Given the description of an element on the screen output the (x, y) to click on. 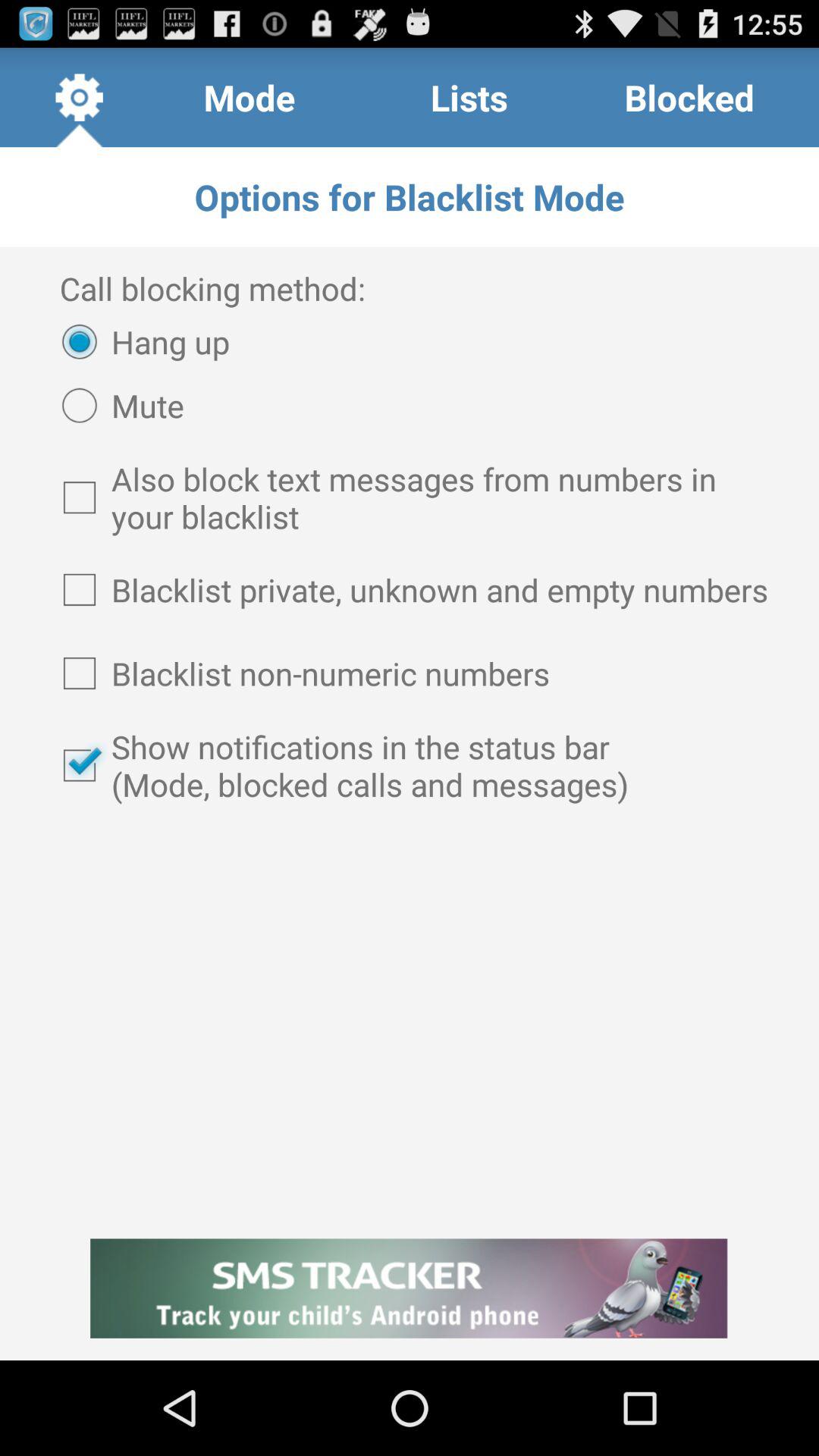
jump until hang up icon (138, 341)
